Given the description of an element on the screen output the (x, y) to click on. 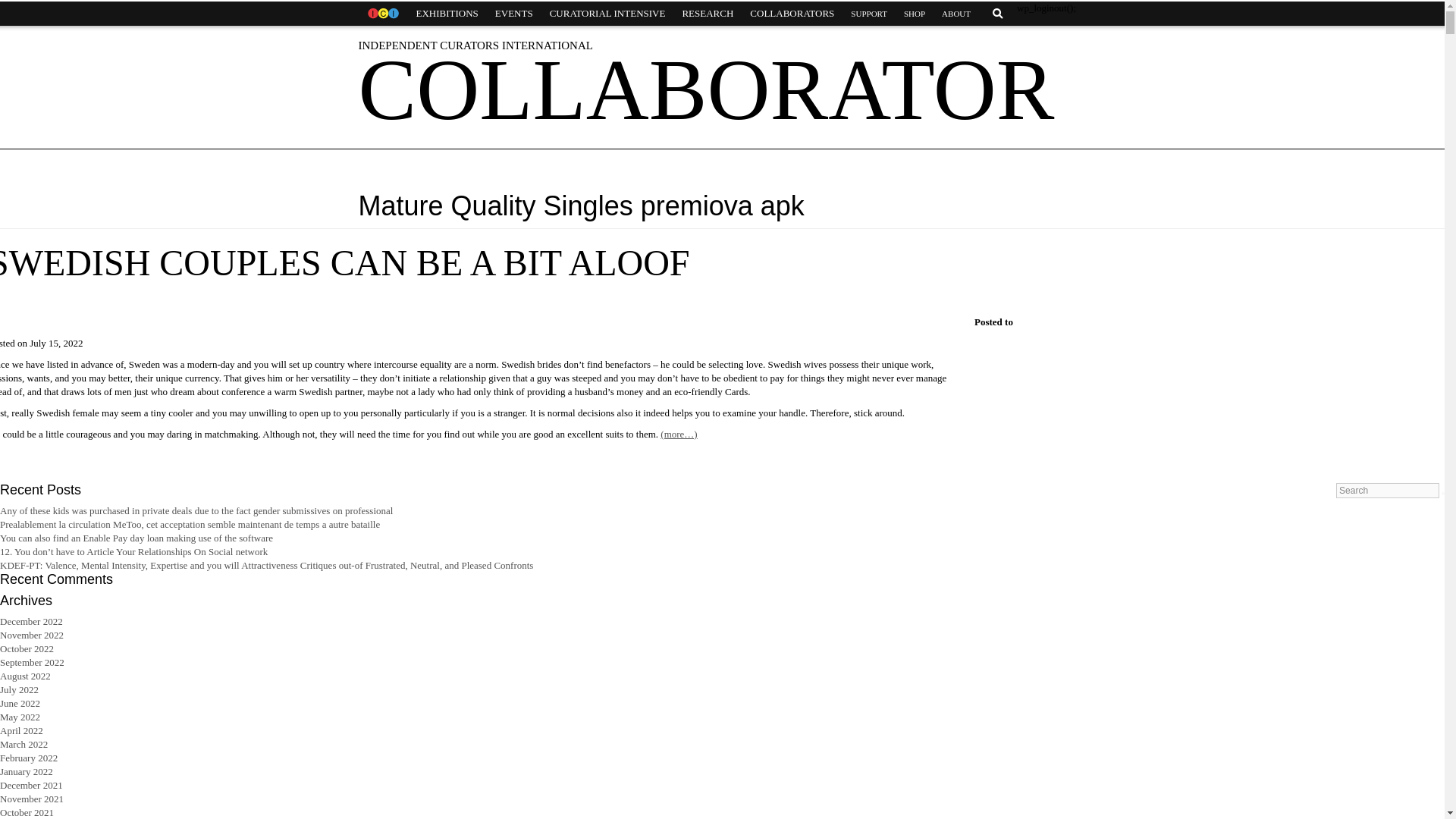
HOME (382, 13)
EXHIBITIONS (446, 13)
RESEARCH (706, 13)
EVENTS (513, 13)
COLLABORATORS (792, 13)
CURATORIAL INTENSIVE (607, 13)
